Given the description of an element on the screen output the (x, y) to click on. 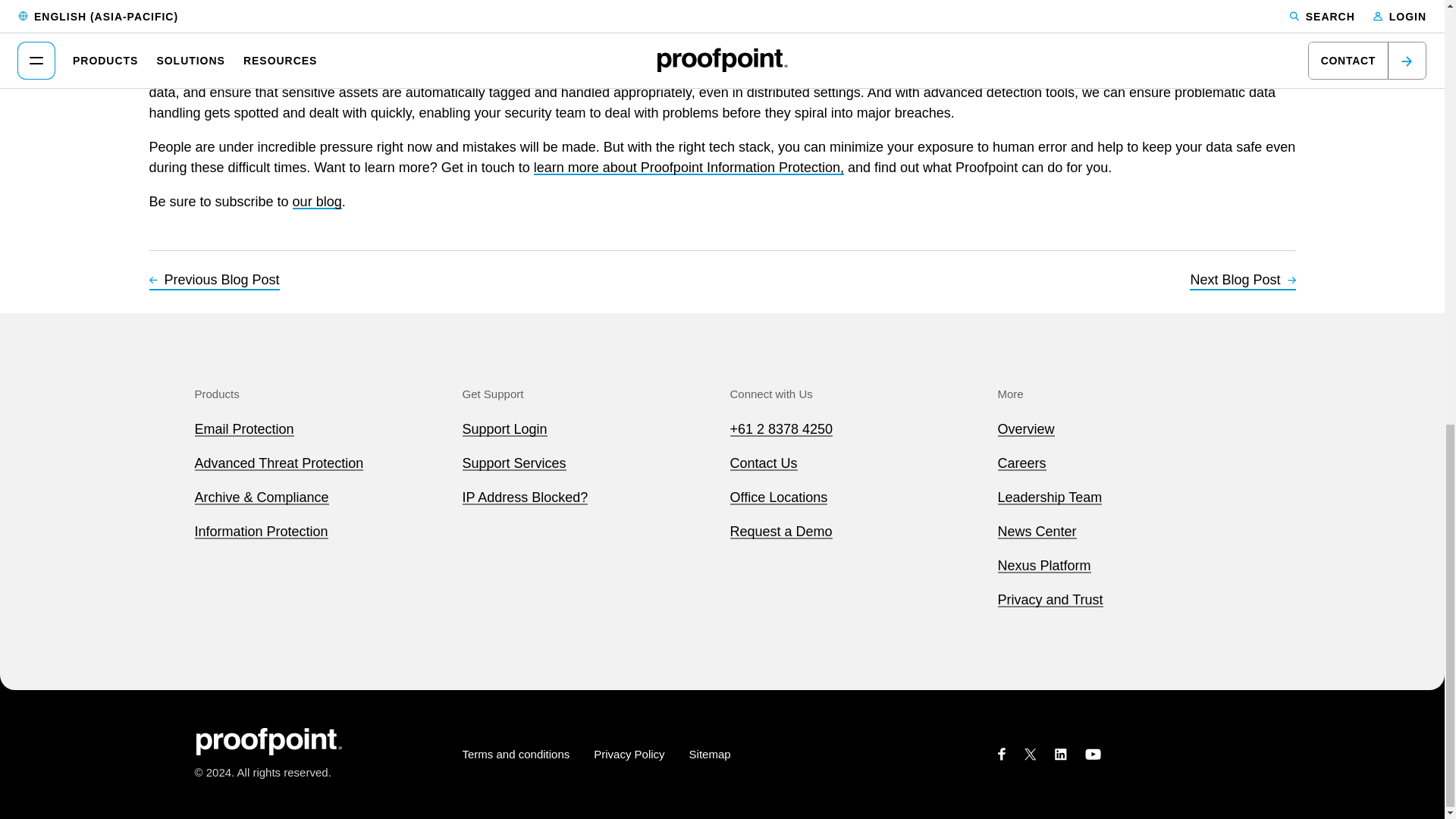
Intelligent Classification and Protection (671, 71)
